Given the description of an element on the screen output the (x, y) to click on. 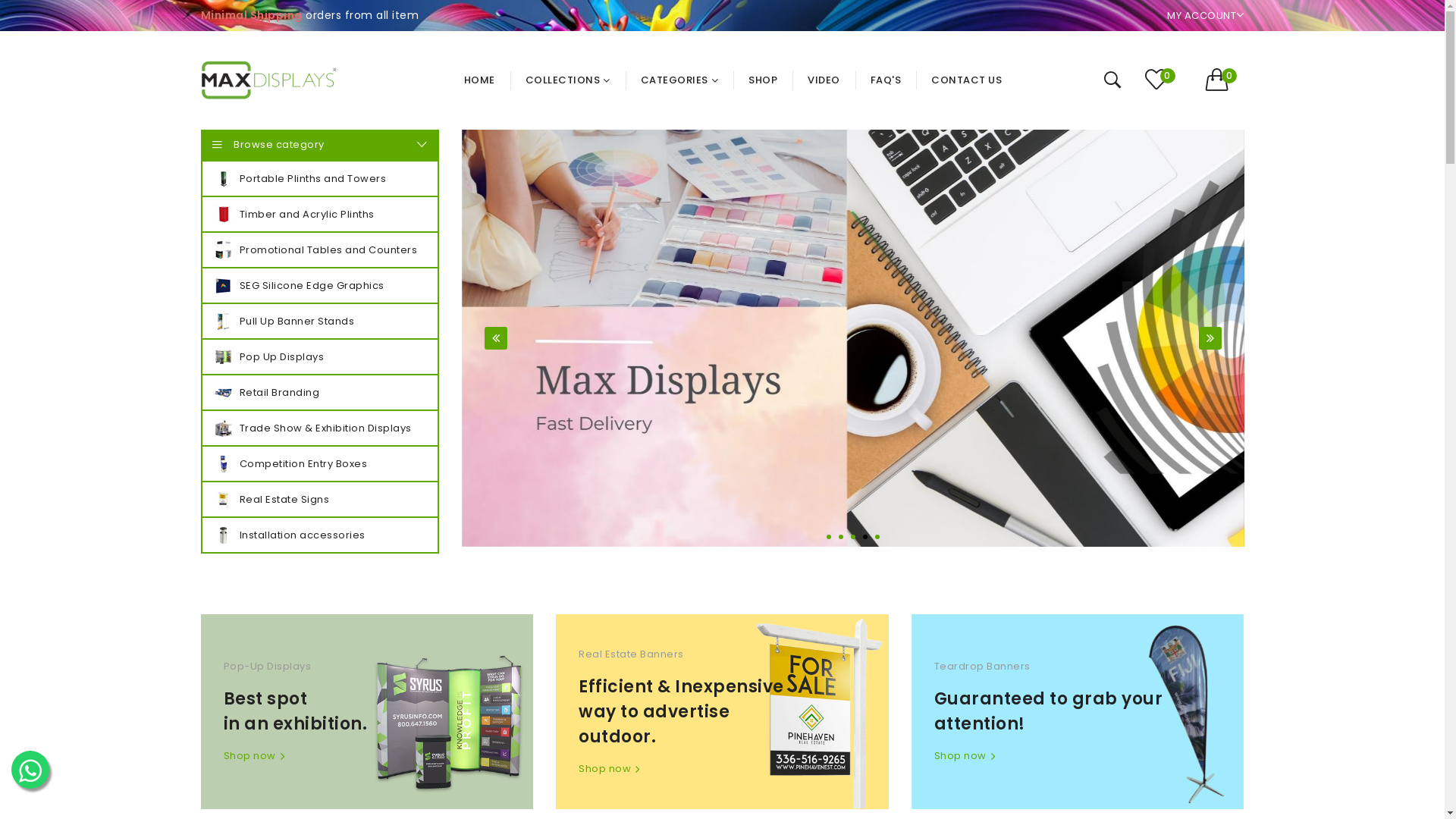
SEG Silicone Edge Graphics Element type: text (318, 285)
Browse category Element type: text (319, 144)
Real Estate Signs Element type: text (318, 499)
Shop now Element type: text (1050, 755)
CATEGORIES Element type: text (679, 80)
SHOP Element type: text (762, 80)
Retail Branding Element type: text (318, 392)
Installation accessories Element type: text (318, 534)
COLLECTIONS Element type: text (567, 80)
HOME Element type: text (487, 80)
0 Element type: text (1164, 80)
Competition Entry Boxes Element type: text (318, 463)
Trade Show & Exhibition Displays Element type: text (318, 428)
Pull Up Banner Stands Element type: text (318, 321)
CONTACT US Element type: text (966, 80)
FAQ'S Element type: text (885, 80)
Pop Up Displays Element type: text (318, 356)
Promotional Tables and Counters Element type: text (318, 249)
0 Element type: text (1224, 80)
Shop now Element type: text (694, 768)
Timber and Acrylic Plinths Element type: text (318, 214)
Portable Plinths and Towers Element type: text (318, 178)
VIDEO Element type: text (823, 80)
Shop now Element type: text (338, 755)
